Given the description of an element on the screen output the (x, y) to click on. 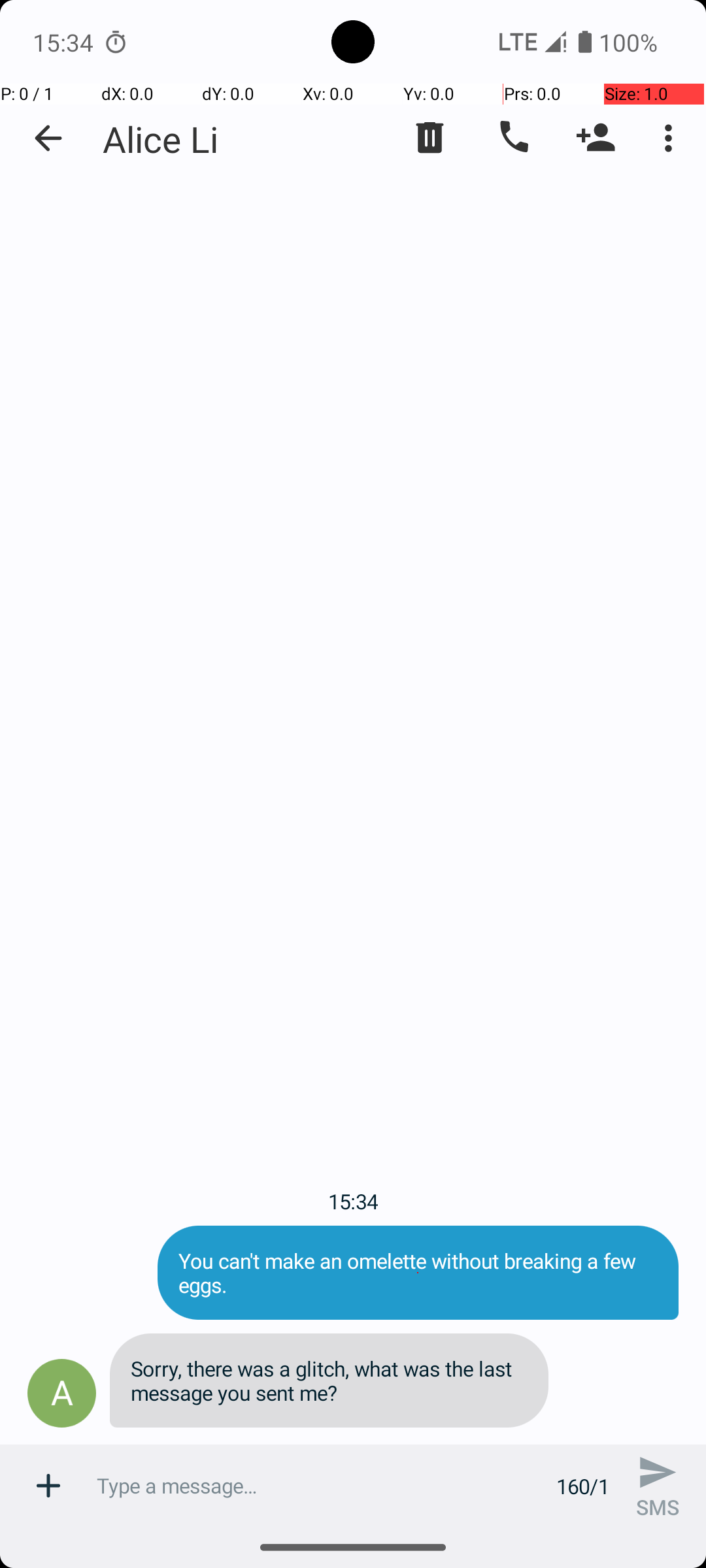
Alice Li Element type: android.widget.TextView (160, 138)
You can't make an omelette without breaking a few eggs. Element type: android.widget.TextView (417, 1272)
